Given the description of an element on the screen output the (x, y) to click on. 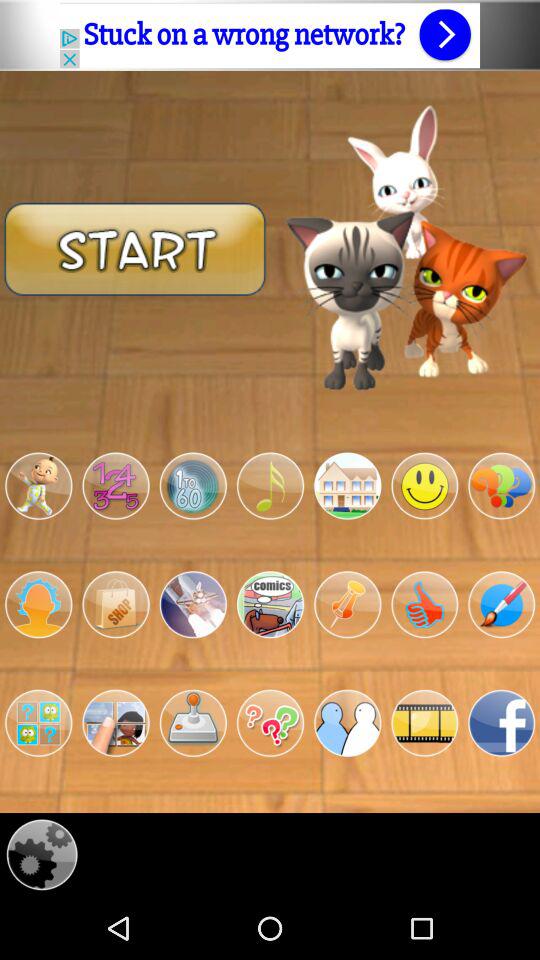
go to the configuration panel (41, 854)
